Given the description of an element on the screen output the (x, y) to click on. 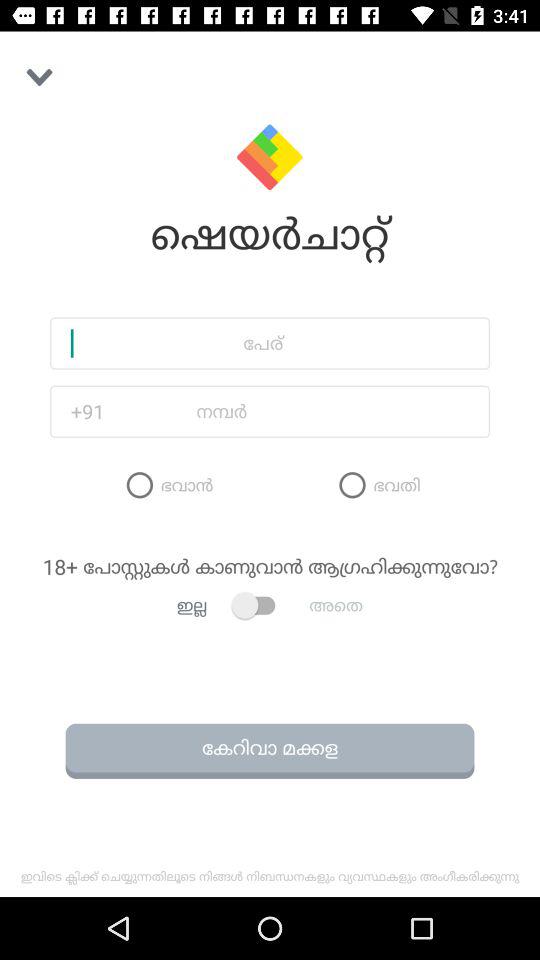
press the icon above the +91 (269, 343)
